Given the description of an element on the screen output the (x, y) to click on. 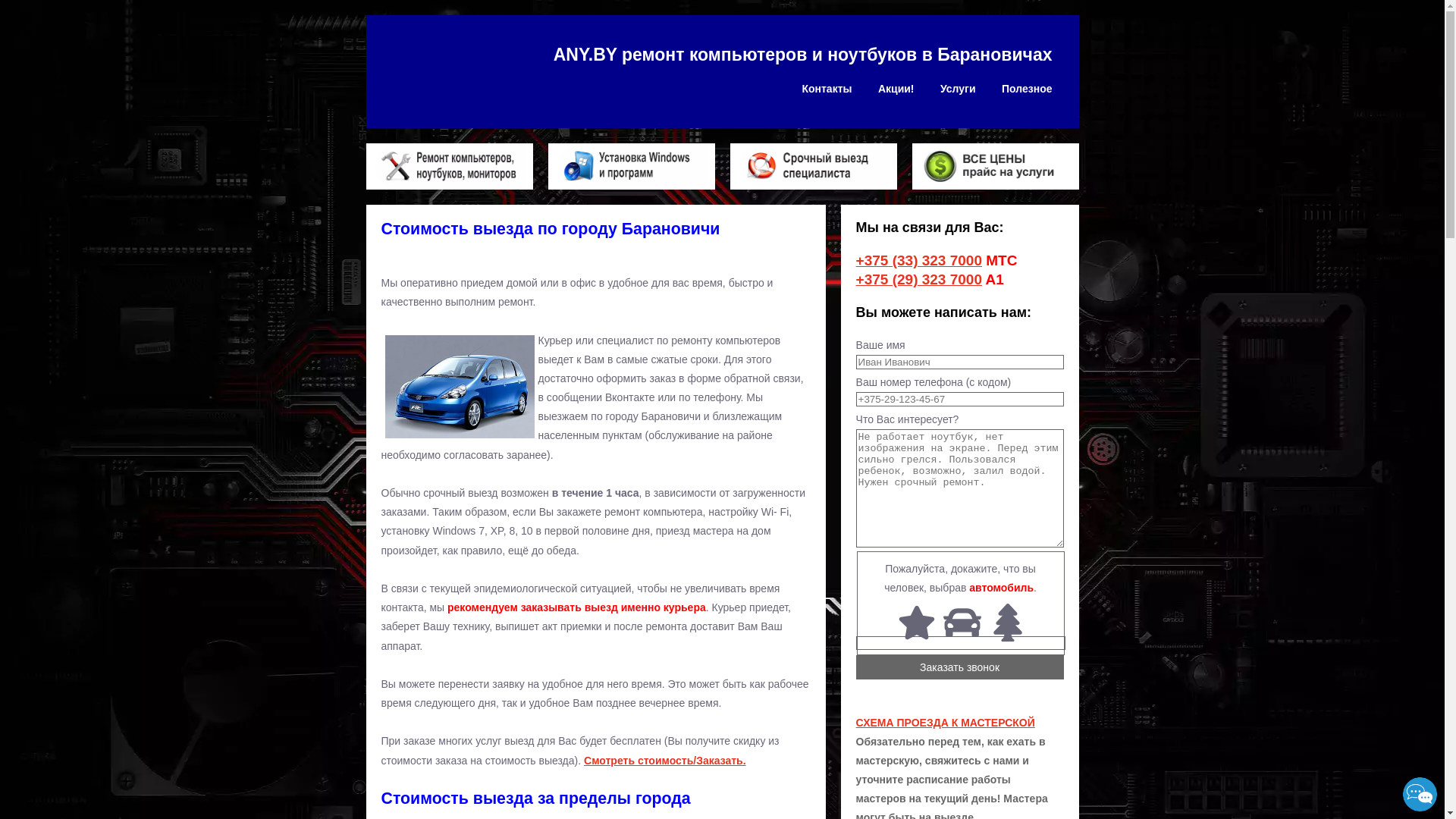
+375 (29) 323 7000 Element type: text (919, 279)
+375 (33) 323 7000 Element type: text (919, 260)
